Given the description of an element on the screen output the (x, y) to click on. 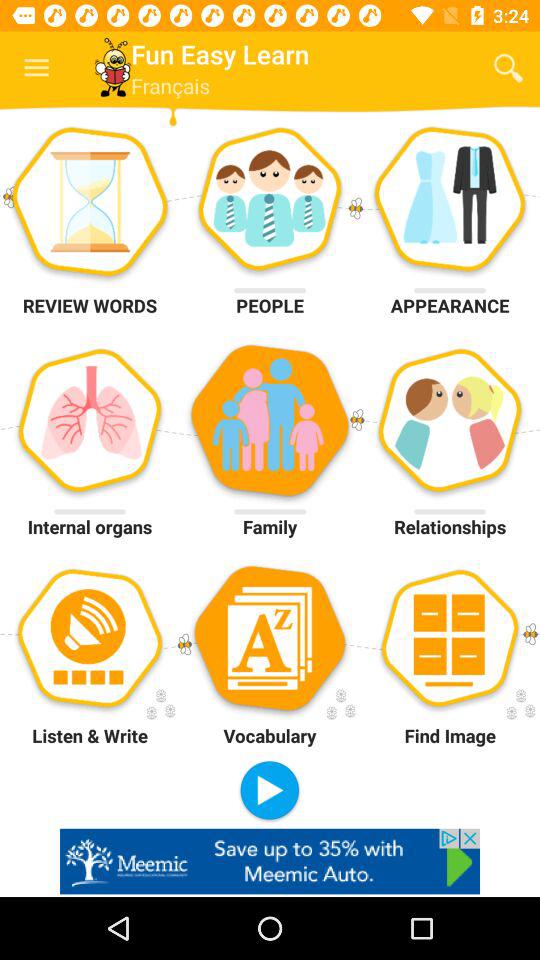
advertisement for meemic auto (270, 861)
